Given the description of an element on the screen output the (x, y) to click on. 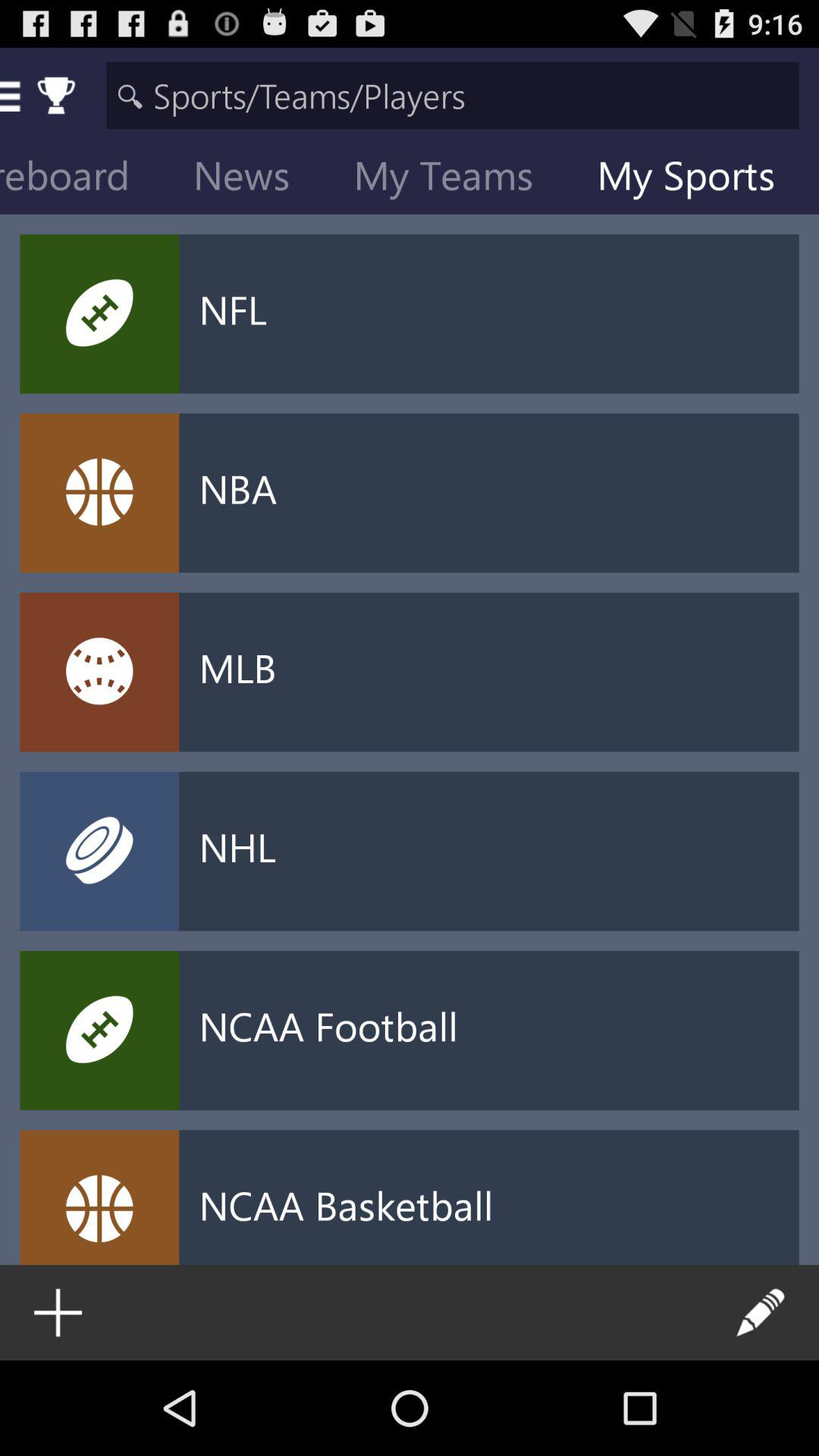
open icon next to news item (455, 178)
